Given the description of an element on the screen output the (x, y) to click on. 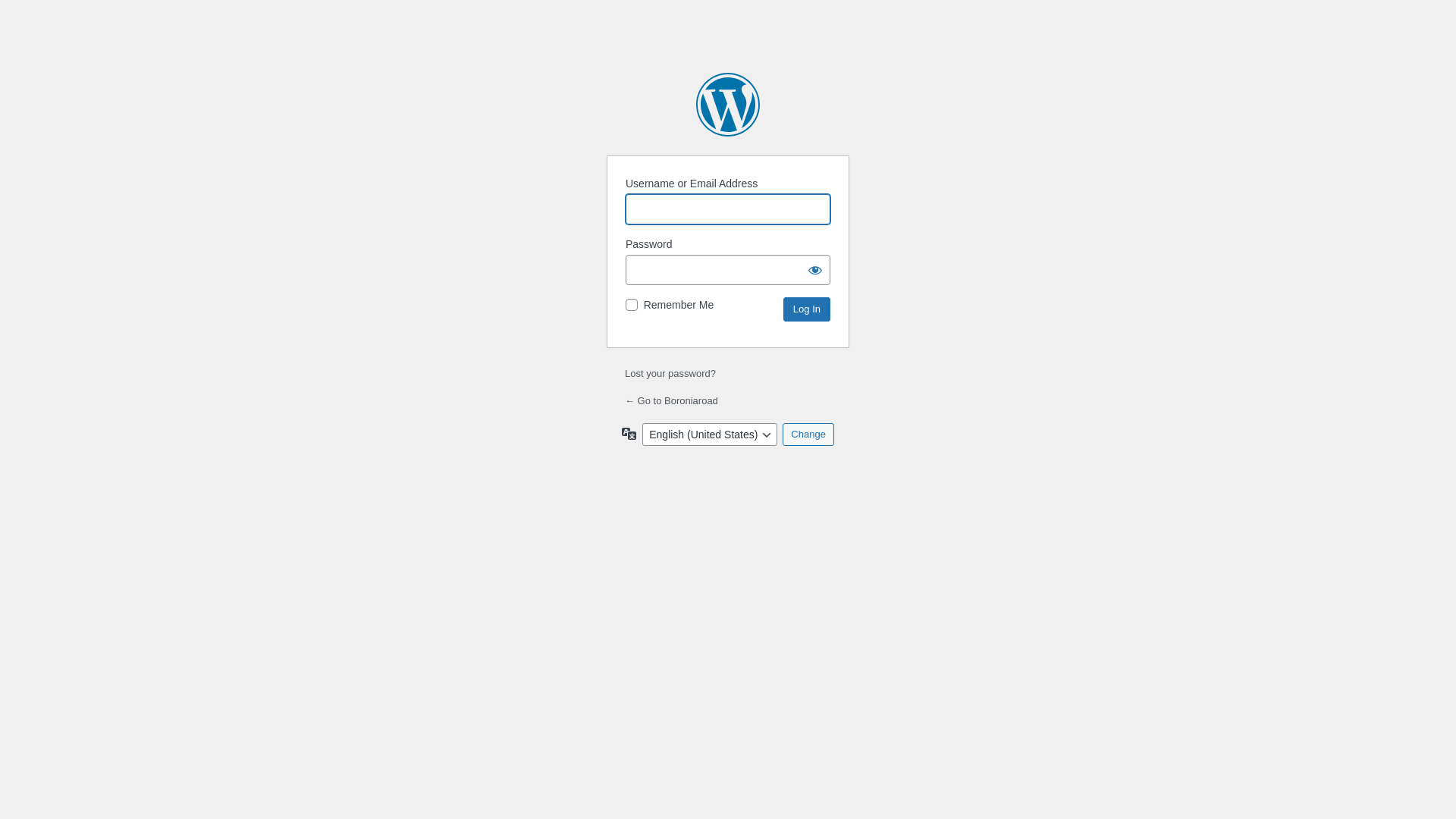
Log In Element type: text (806, 309)
Powered by WordPress Element type: text (727, 104)
Change Element type: text (808, 434)
Lost your password? Element type: text (669, 373)
